Given the description of an element on the screen output the (x, y) to click on. 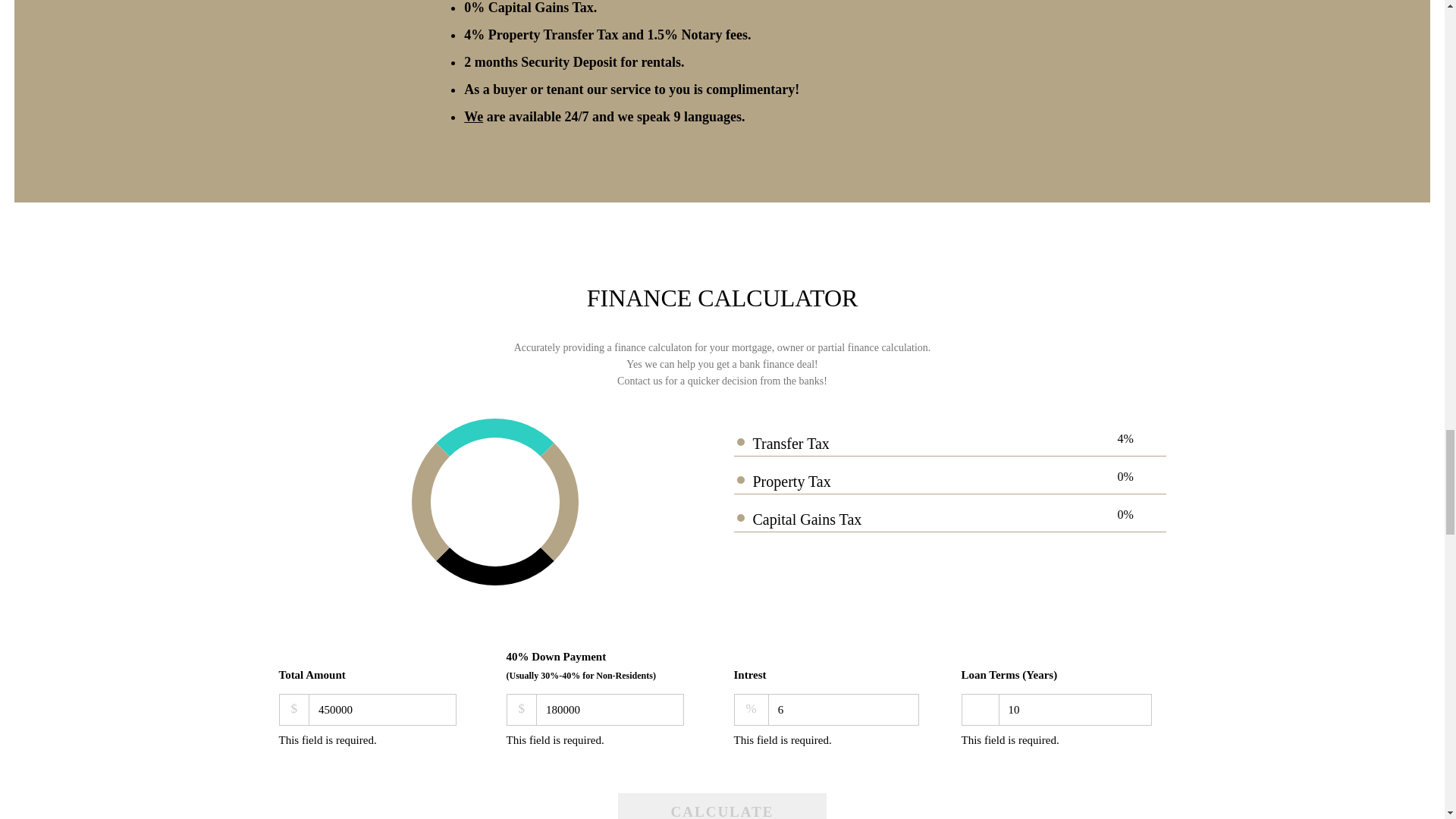
450000 (382, 709)
10 (1075, 709)
180000 (610, 709)
6 (844, 709)
